Given the description of an element on the screen output the (x, y) to click on. 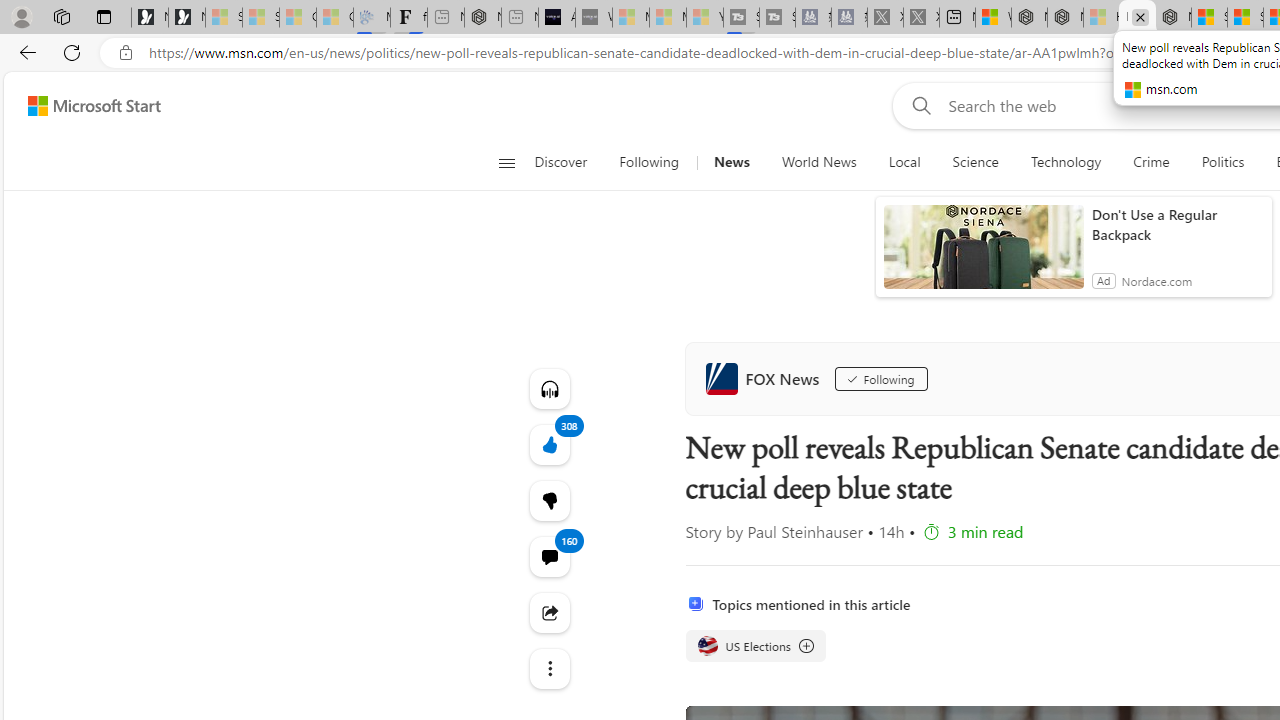
Microsoft Start Sports - Sleeping (630, 17)
308 Like (548, 444)
Class: button-glyph (505, 162)
Science (975, 162)
US Elections (754, 645)
Open navigation menu (506, 162)
World News (818, 162)
Technology (1065, 162)
World News (818, 162)
